Given the description of an element on the screen output the (x, y) to click on. 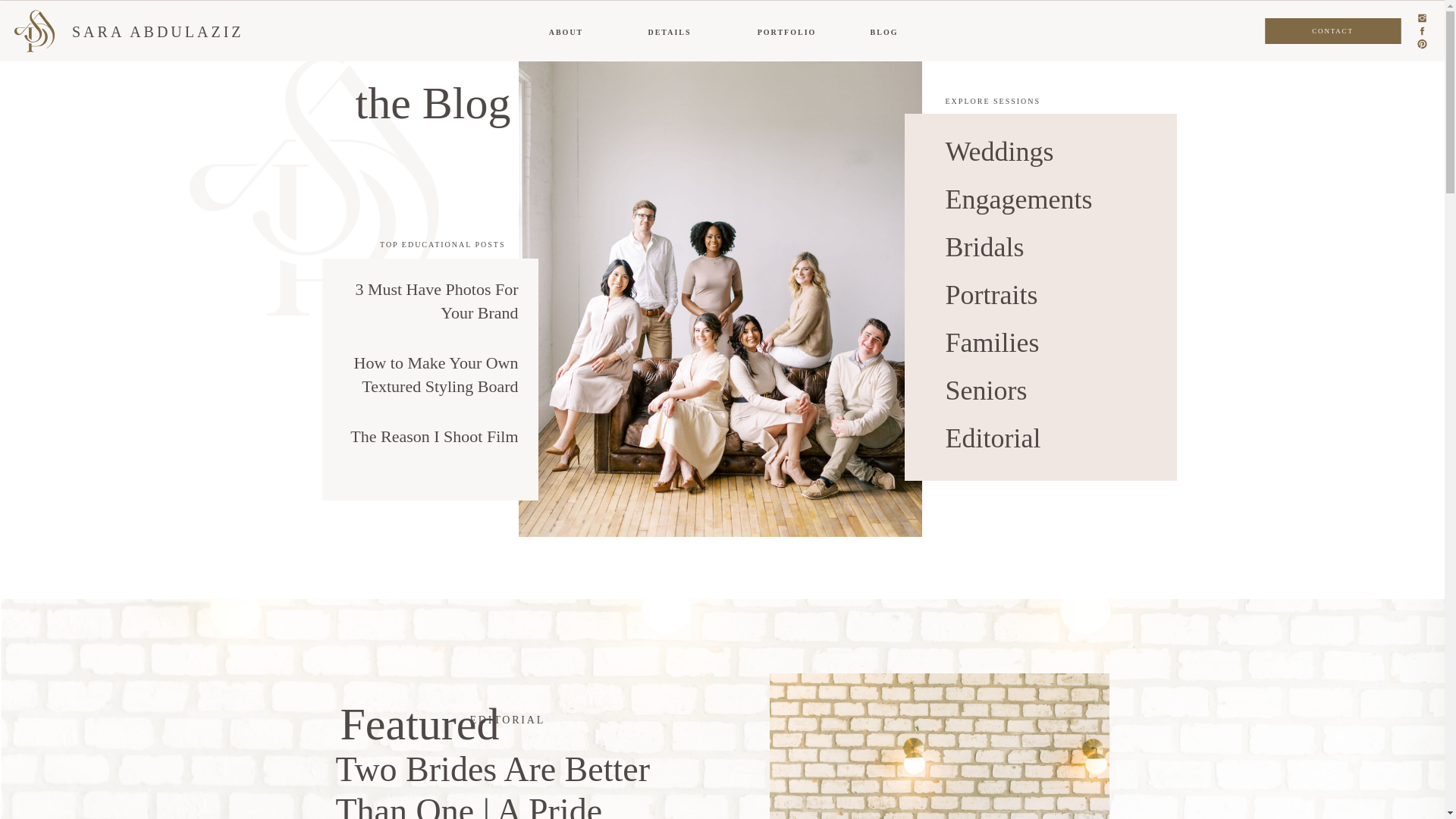
CONTACT (1332, 31)
BLOG (884, 33)
Seniors (1077, 394)
Engagements (1077, 203)
3 Must Have Photos For Your Brand (436, 301)
The Reason I Shoot Film (434, 435)
Families (1077, 346)
EDITORIAL (508, 719)
Bridals (1077, 250)
